Given the description of an element on the screen output the (x, y) to click on. 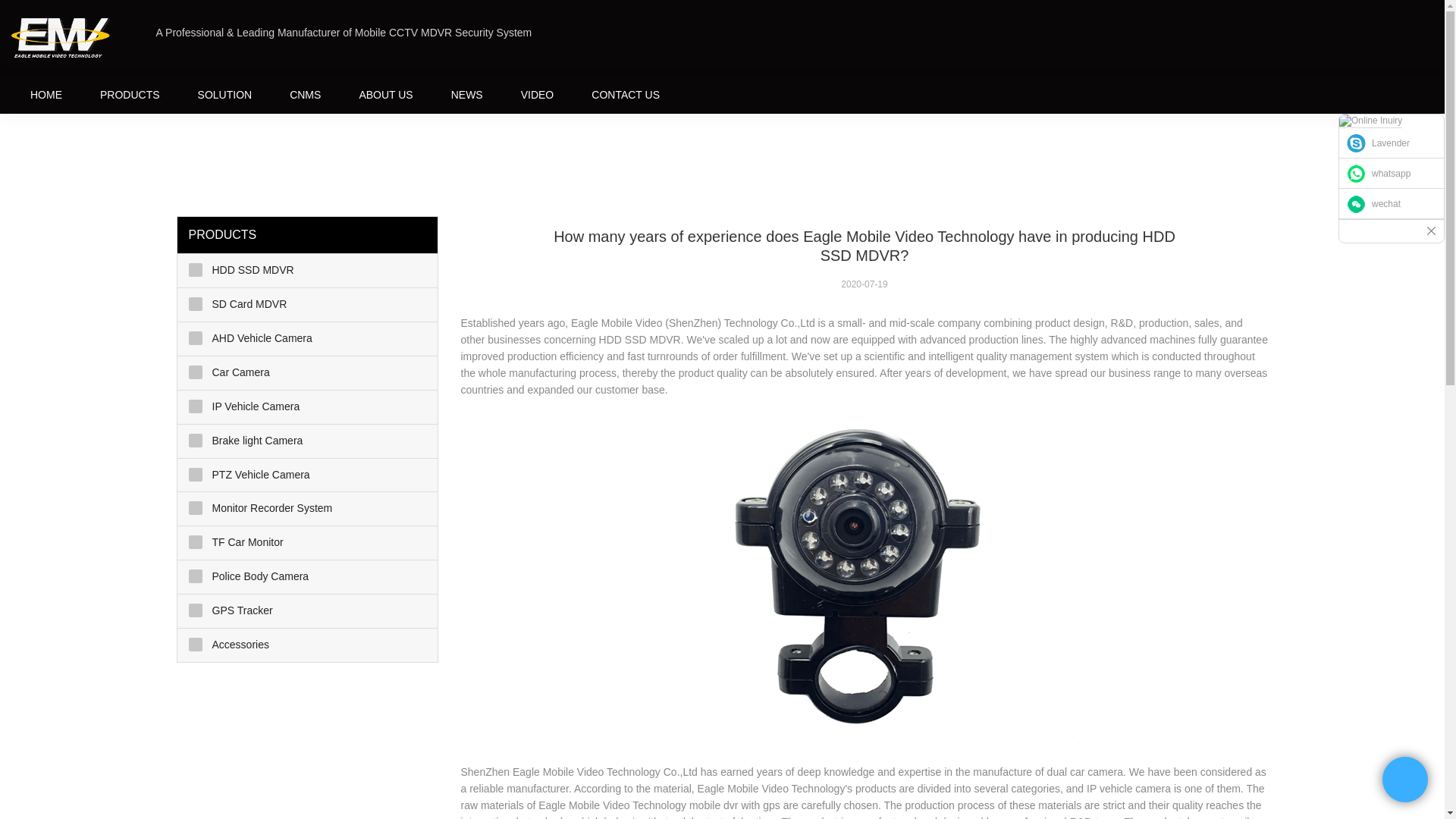
Lavender (1391, 142)
HDD SSD MDVR (307, 270)
SD Card MDVR (307, 304)
TF Car Monitor (307, 542)
GPS Tracker (307, 611)
ABOUT US (385, 94)
VIDEO (537, 94)
Police Body Camera (307, 576)
PTZ Vehicle Camera (307, 474)
CONTACT US (625, 94)
